Given the description of an element on the screen output the (x, y) to click on. 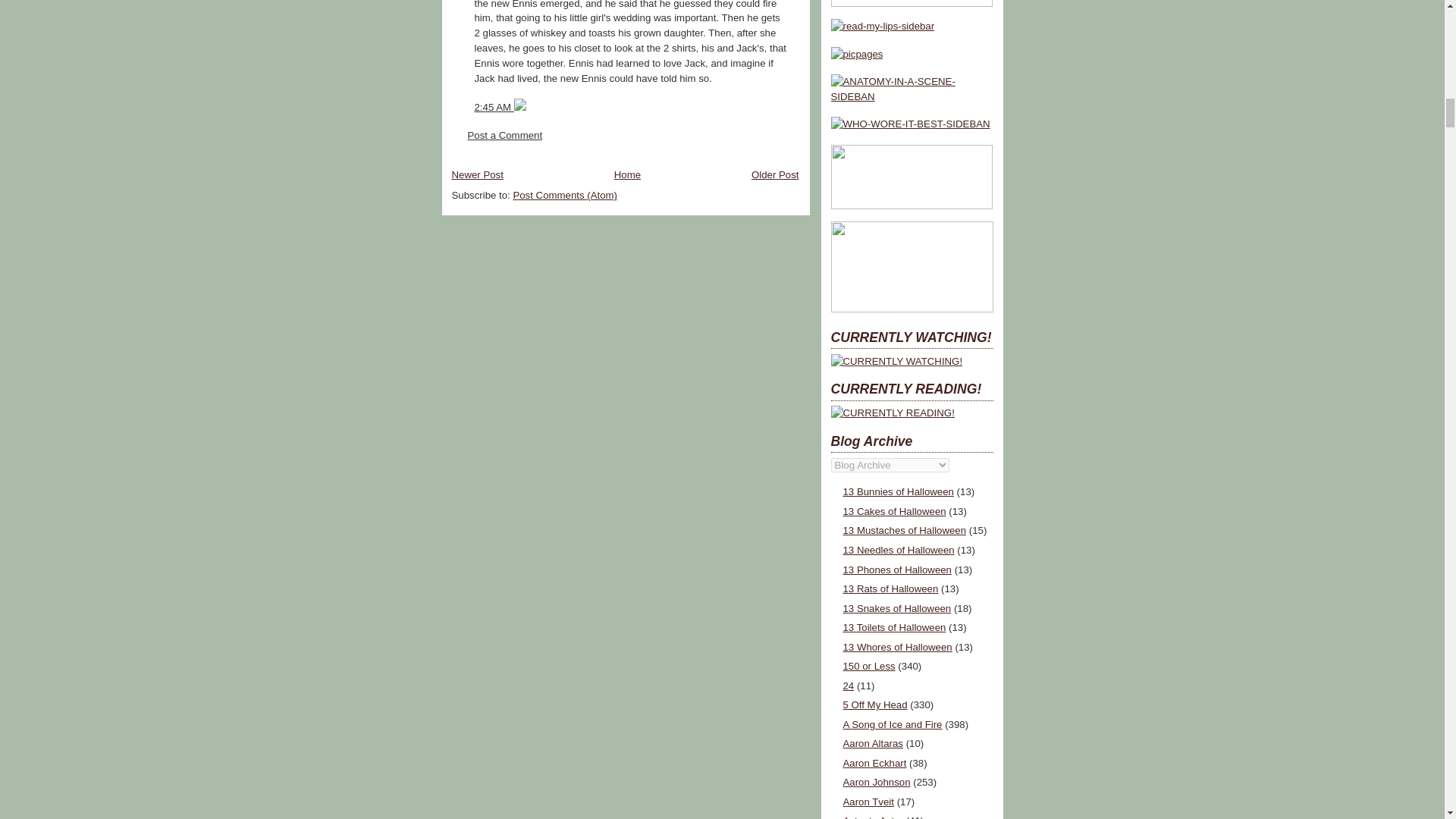
2:45 AM (493, 107)
Delete Comment (519, 107)
Newer Post (477, 174)
Older Post (775, 174)
Post a Comment (504, 134)
Home (627, 174)
comment permalink (493, 107)
Newer Post (477, 174)
Older Post (775, 174)
